Given the description of an element on the screen output the (x, y) to click on. 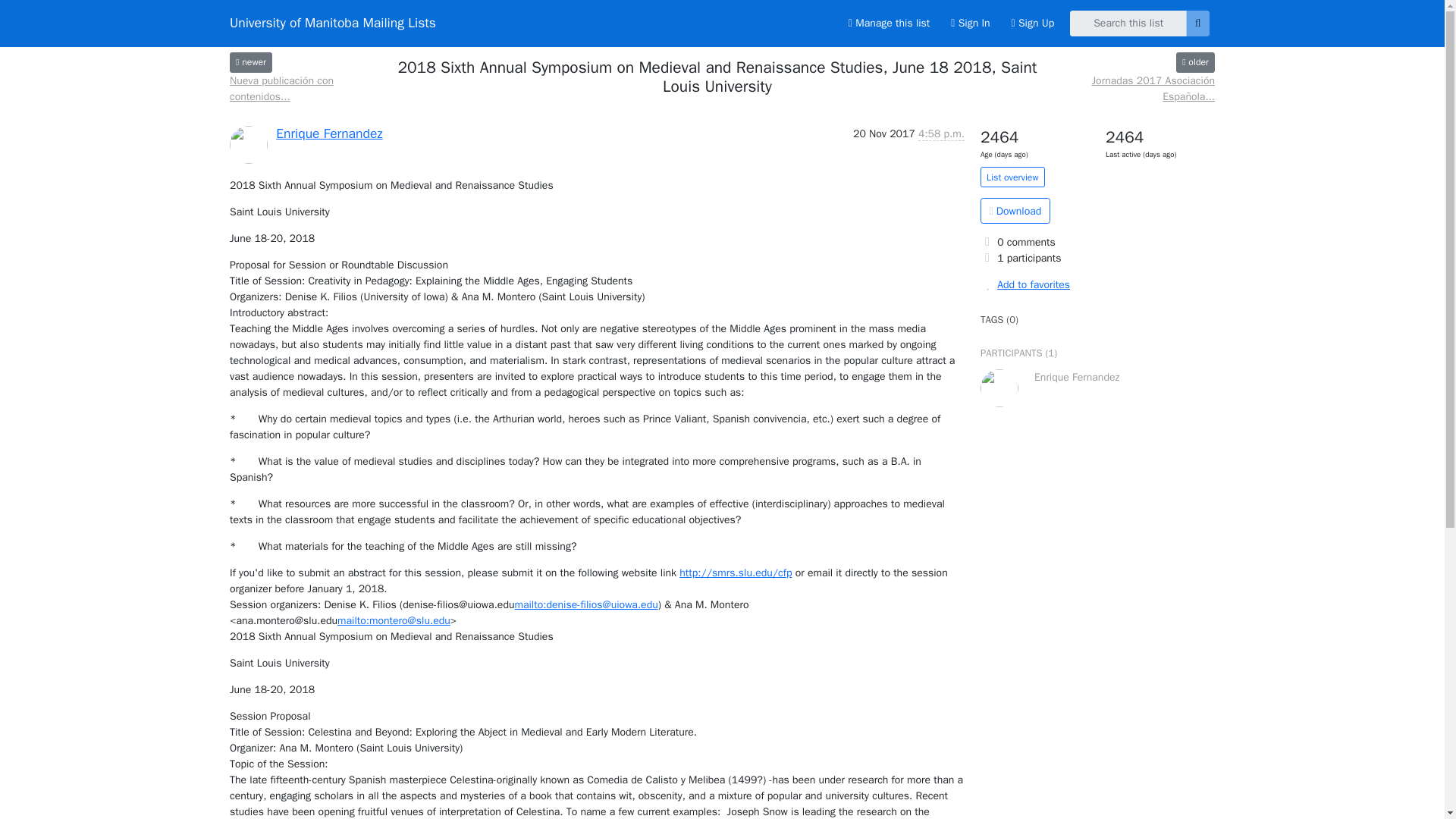
Sign In (970, 22)
This thread in gzipped mbox format (1014, 210)
See the profile for Enrique Fernandez (328, 133)
Sign Up (1033, 22)
Enrique Fernandez (328, 133)
newer (251, 61)
You must be logged-in to have favorites. (1096, 284)
Add to favorites (1096, 284)
University of Manitoba Mailing Lists (332, 23)
List overview (1012, 177)
